Given the description of an element on the screen output the (x, y) to click on. 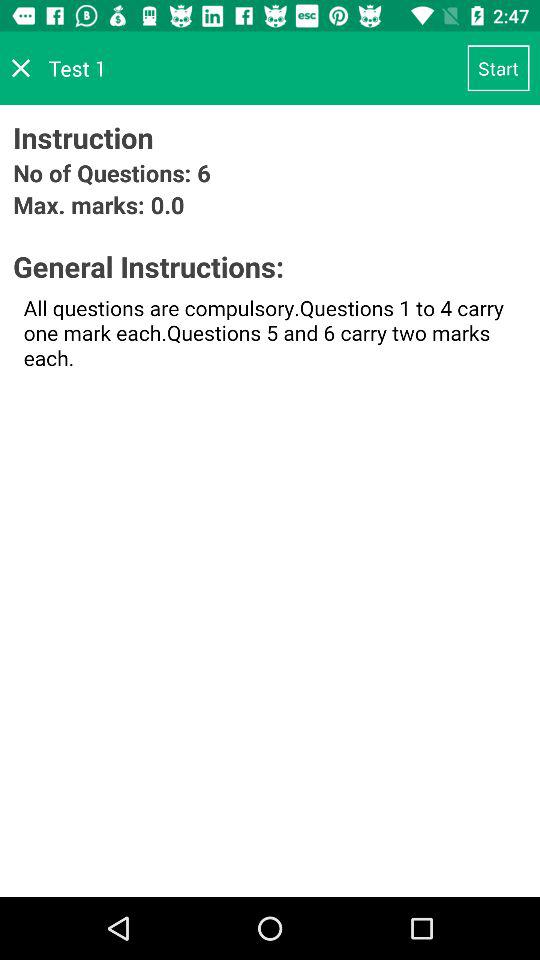
close page (21, 68)
